Given the description of an element on the screen output the (x, y) to click on. 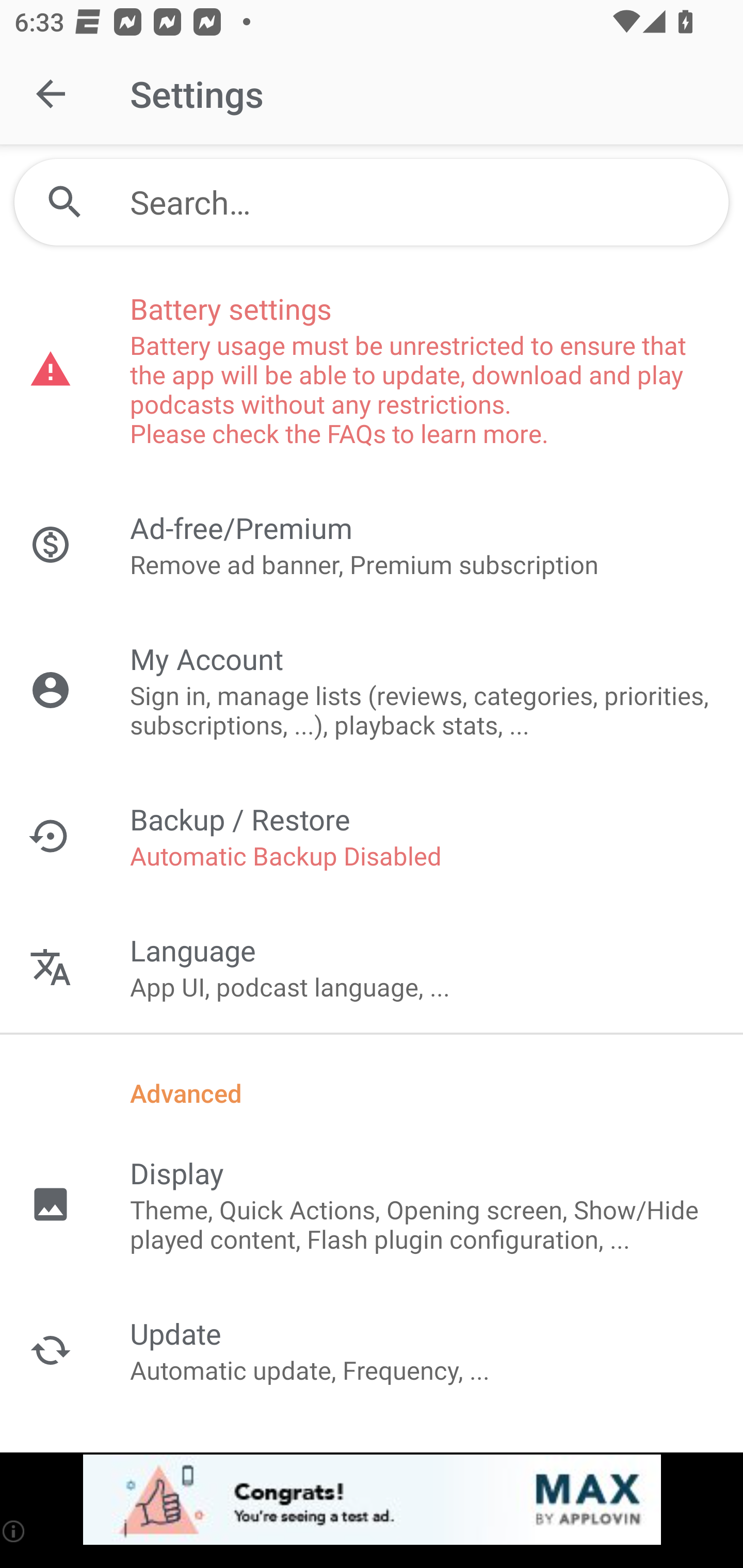
Navigate up (50, 93)
Search… (371, 202)
Search… (422, 202)
Backup / Restore Automatic Backup Disabled (371, 835)
Language App UI, podcast language, ... (371, 967)
Update Automatic update, Frequency, ... (371, 1349)
app-monetization (371, 1500)
(i) (14, 1531)
